Given the description of an element on the screen output the (x, y) to click on. 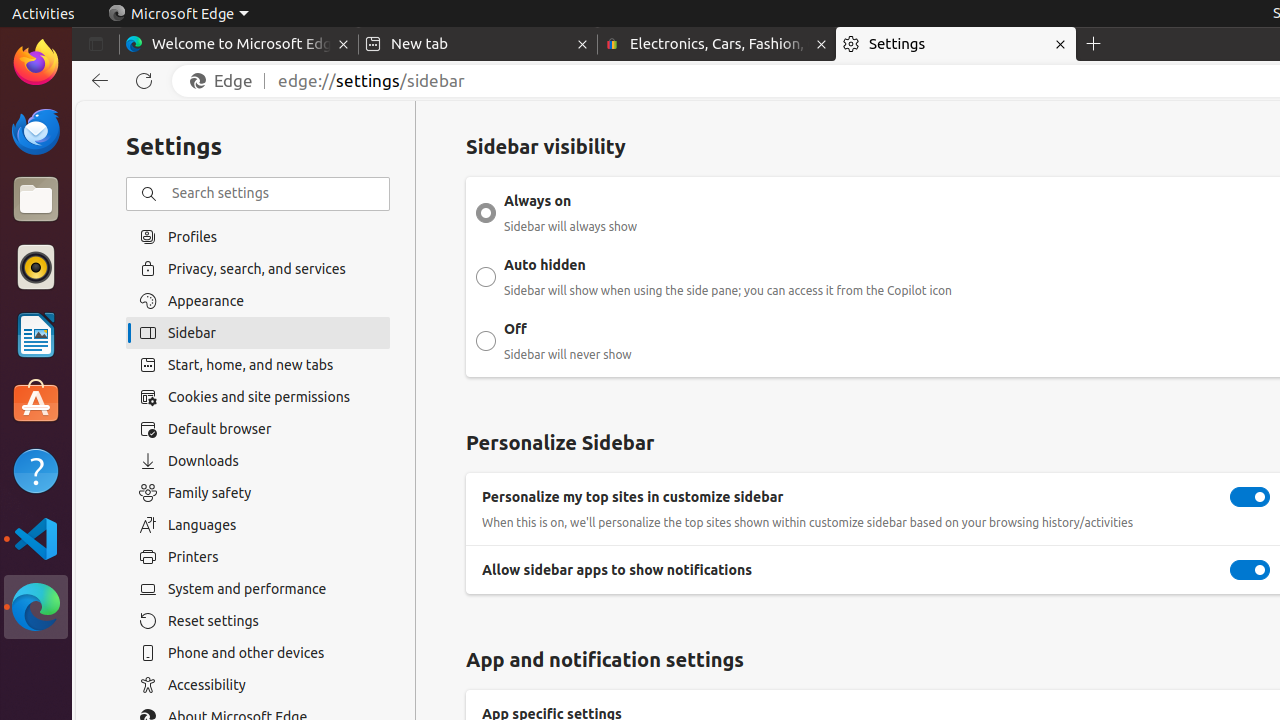
Tab actions menu Element type: push-button (96, 44)
Appearance Element type: tree-item (258, 301)
Electronics, Cars, Fashion, Collectibles & More | eBay Element type: page-tab (717, 44)
Printers Element type: tree-item (258, 557)
Languages Element type: tree-item (258, 525)
